Given the description of an element on the screen output the (x, y) to click on. 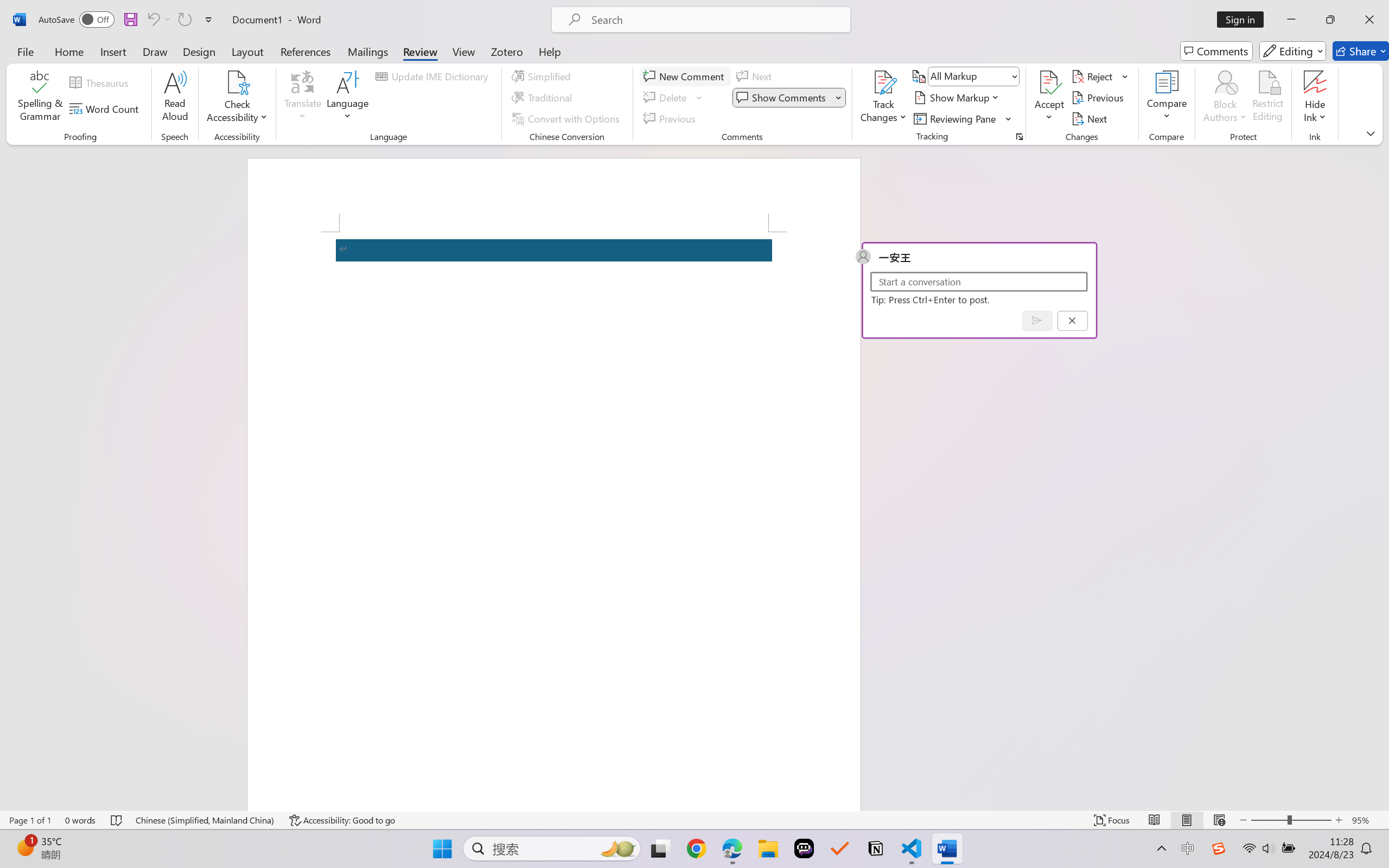
Accept and Move to Next (1049, 81)
